Given the description of an element on the screen output the (x, y) to click on. 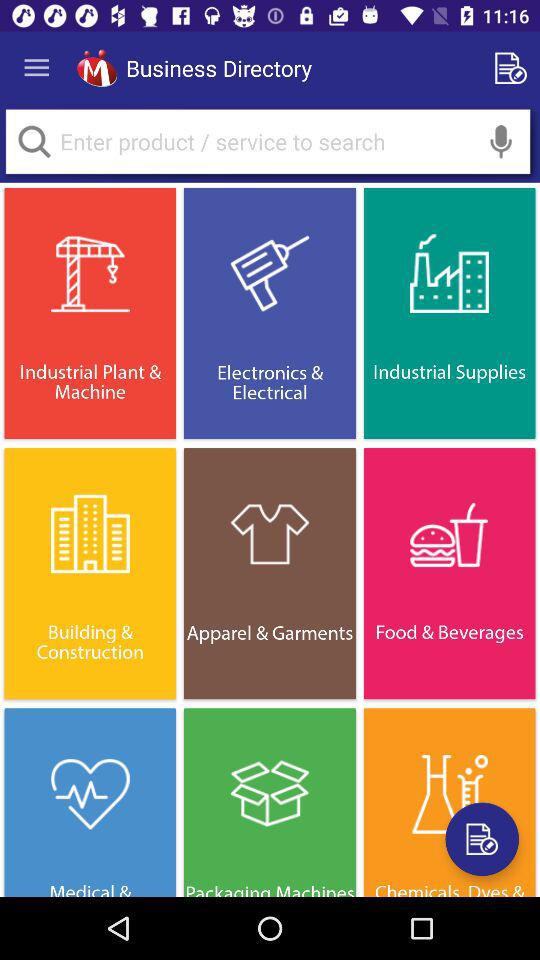
search product or service (34, 141)
